Given the description of an element on the screen output the (x, y) to click on. 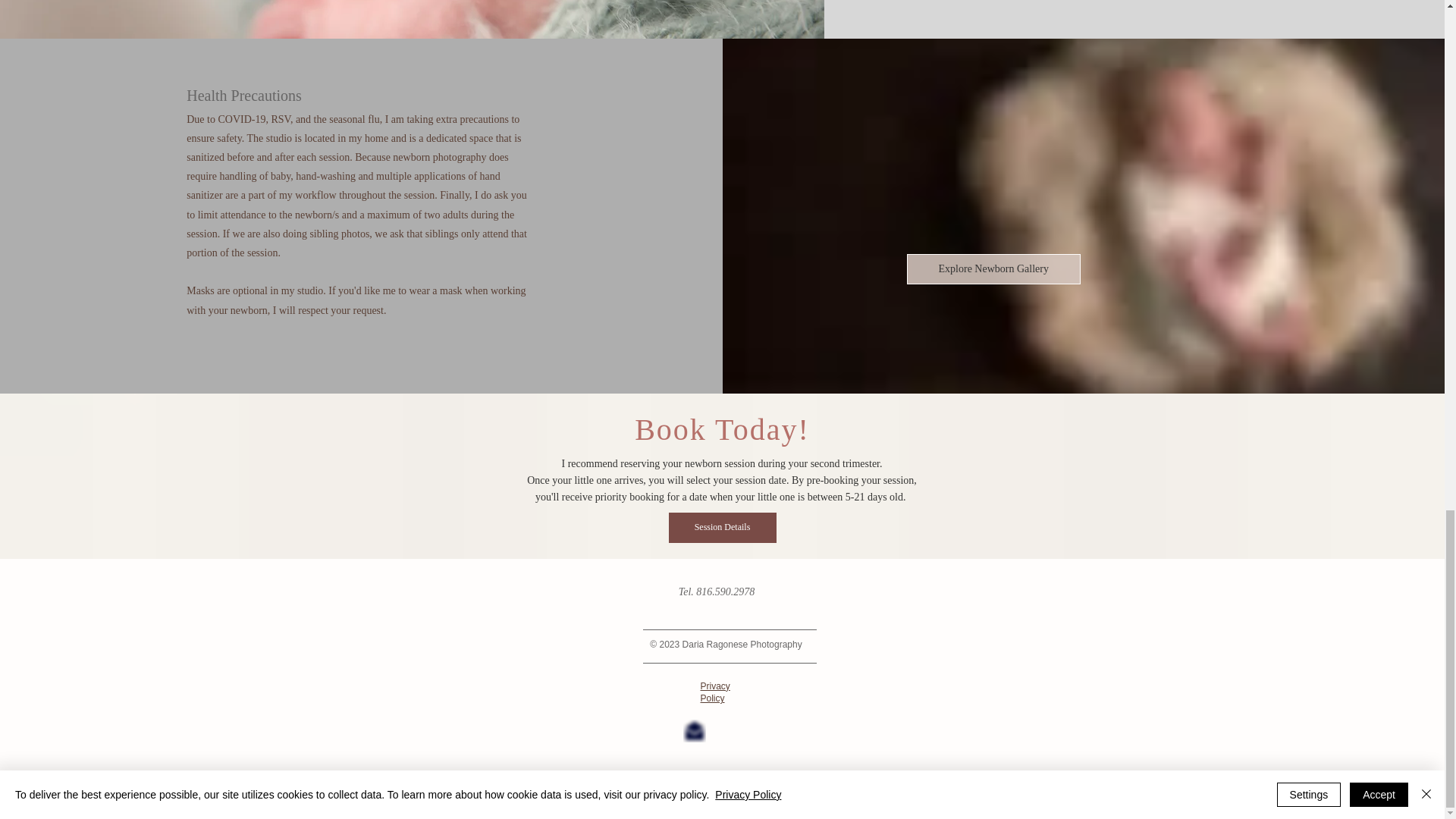
Session Details (722, 527)
Privacy Policy (715, 692)
Explore Newborn Gallery (993, 268)
